Given the description of an element on the screen output the (x, y) to click on. 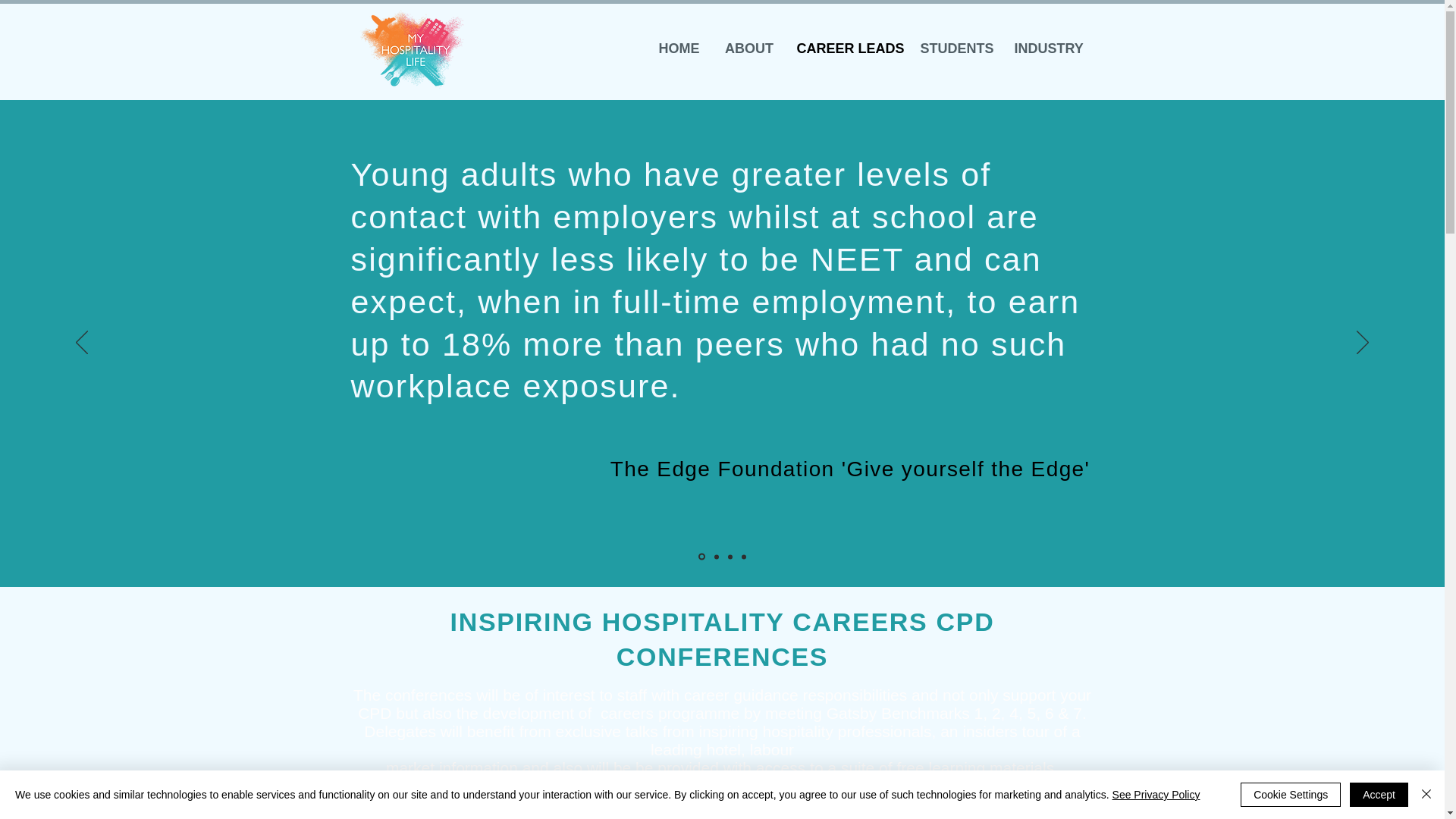
STUDENTS (955, 48)
Accept (1378, 794)
ABOUT (748, 48)
CAREER LEADS (847, 48)
HOME (679, 48)
Cookie Settings (1290, 794)
INDUSTRY (1048, 48)
See Privacy Policy (1155, 794)
